Given the description of an element on the screen output the (x, y) to click on. 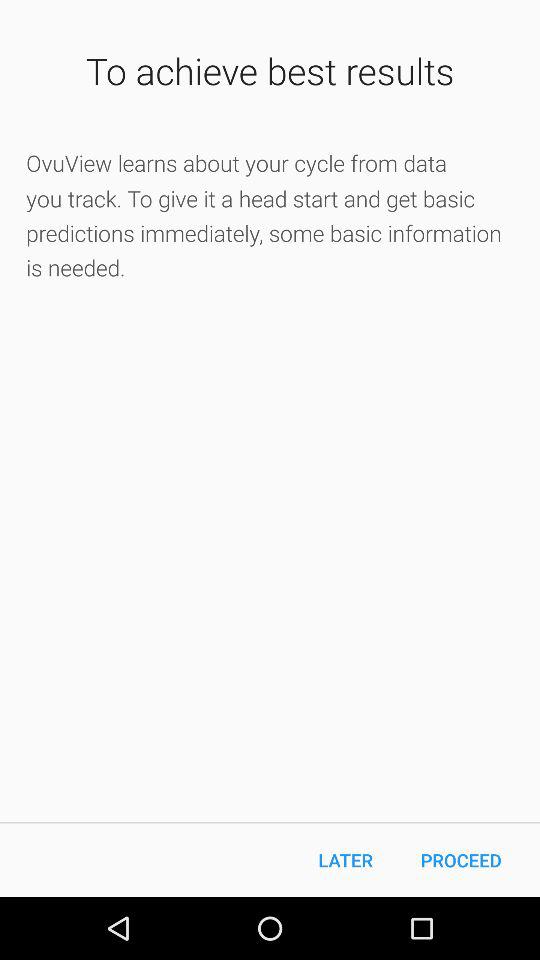
click the proceed at the bottom right corner (461, 859)
